Given the description of an element on the screen output the (x, y) to click on. 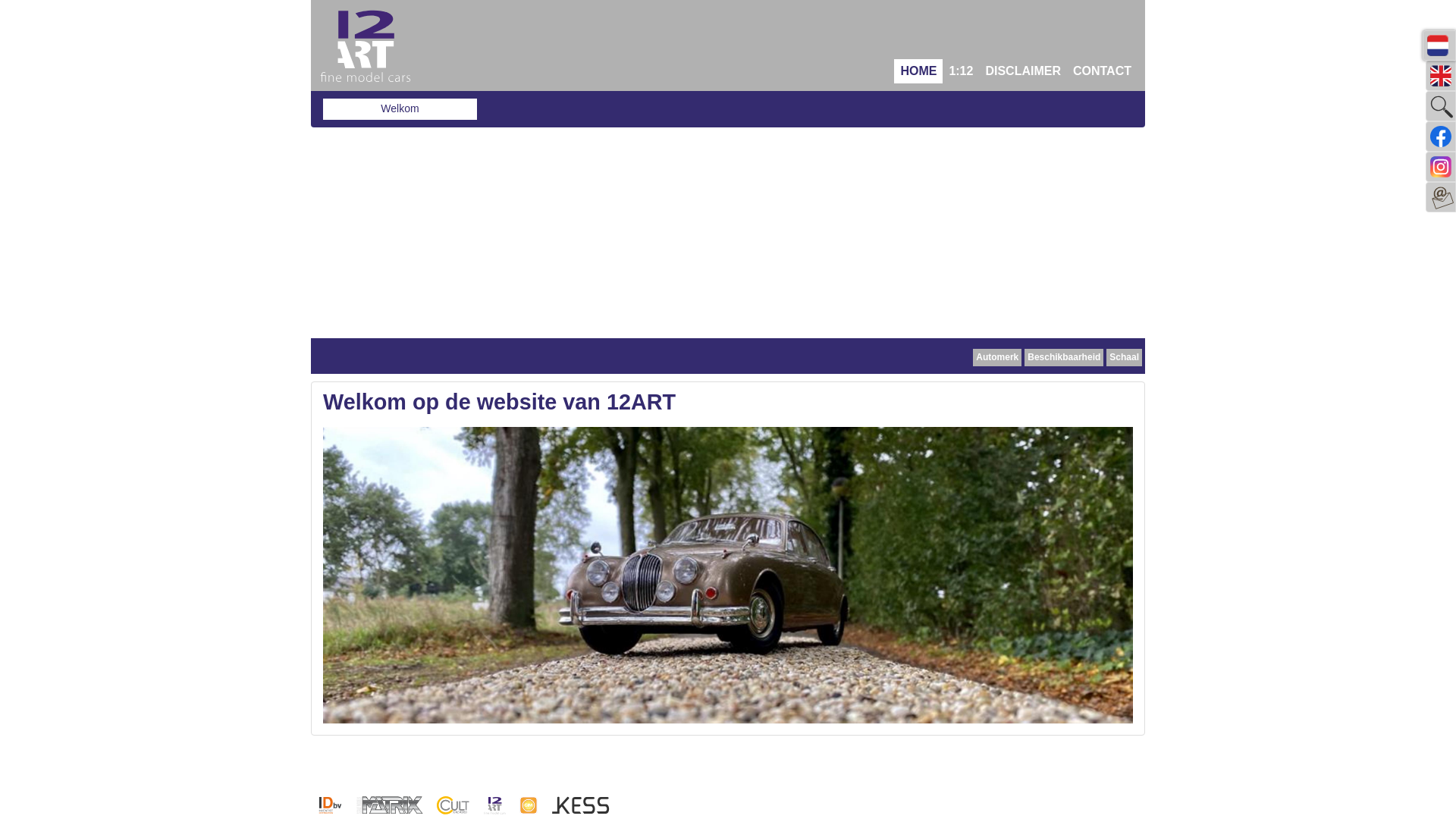
Automerk Element type: text (996, 357)
Beschikbaarheid Element type: text (1063, 357)
CONTACT Element type: text (1101, 71)
Schaal Element type: text (1124, 357)
Welkom Element type: text (399, 108)
HOME Element type: text (918, 71)
1:12 Element type: text (960, 71)
DISCLAIMER Element type: text (1022, 71)
